Given the description of an element on the screen output the (x, y) to click on. 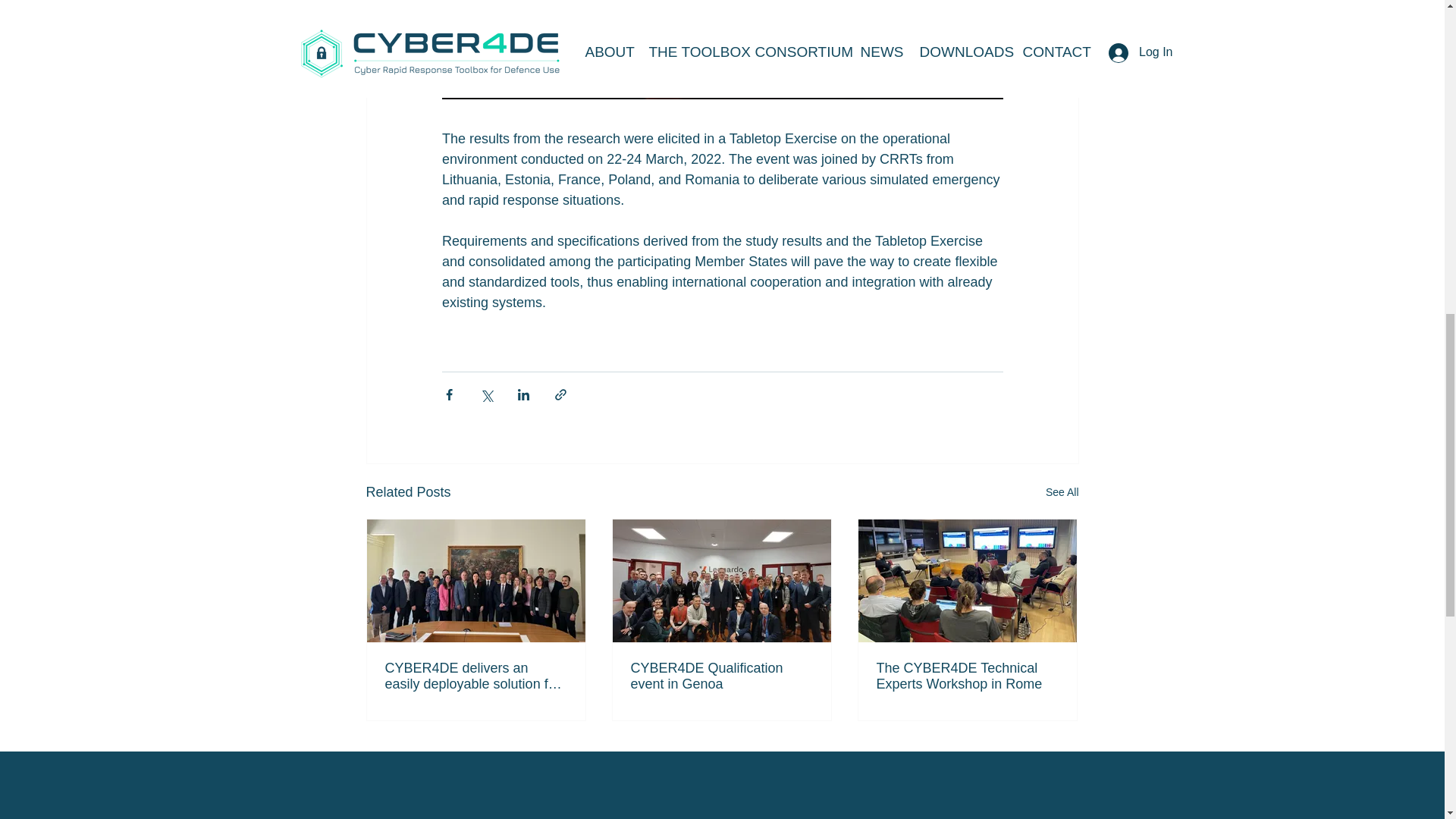
The CYBER4DE Technical Experts Workshop in Rome (967, 676)
CYBER4DE Qualification event in Genoa (721, 676)
See All (1061, 492)
